Given the description of an element on the screen output the (x, y) to click on. 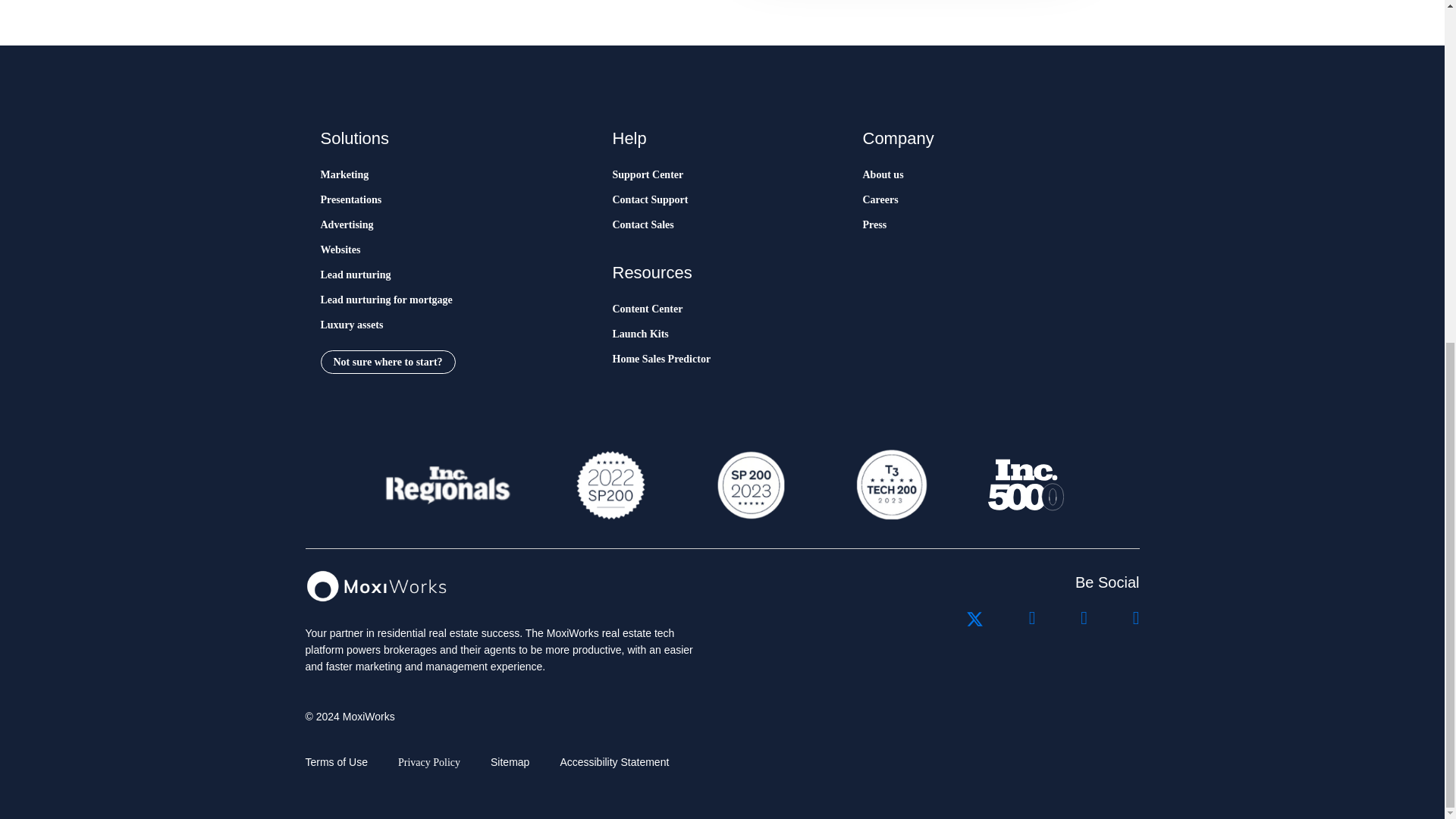
T3 tech 200 2023 (890, 484)
SP 2022 (610, 484)
SP 2023 (749, 484)
